Given the description of an element on the screen output the (x, y) to click on. 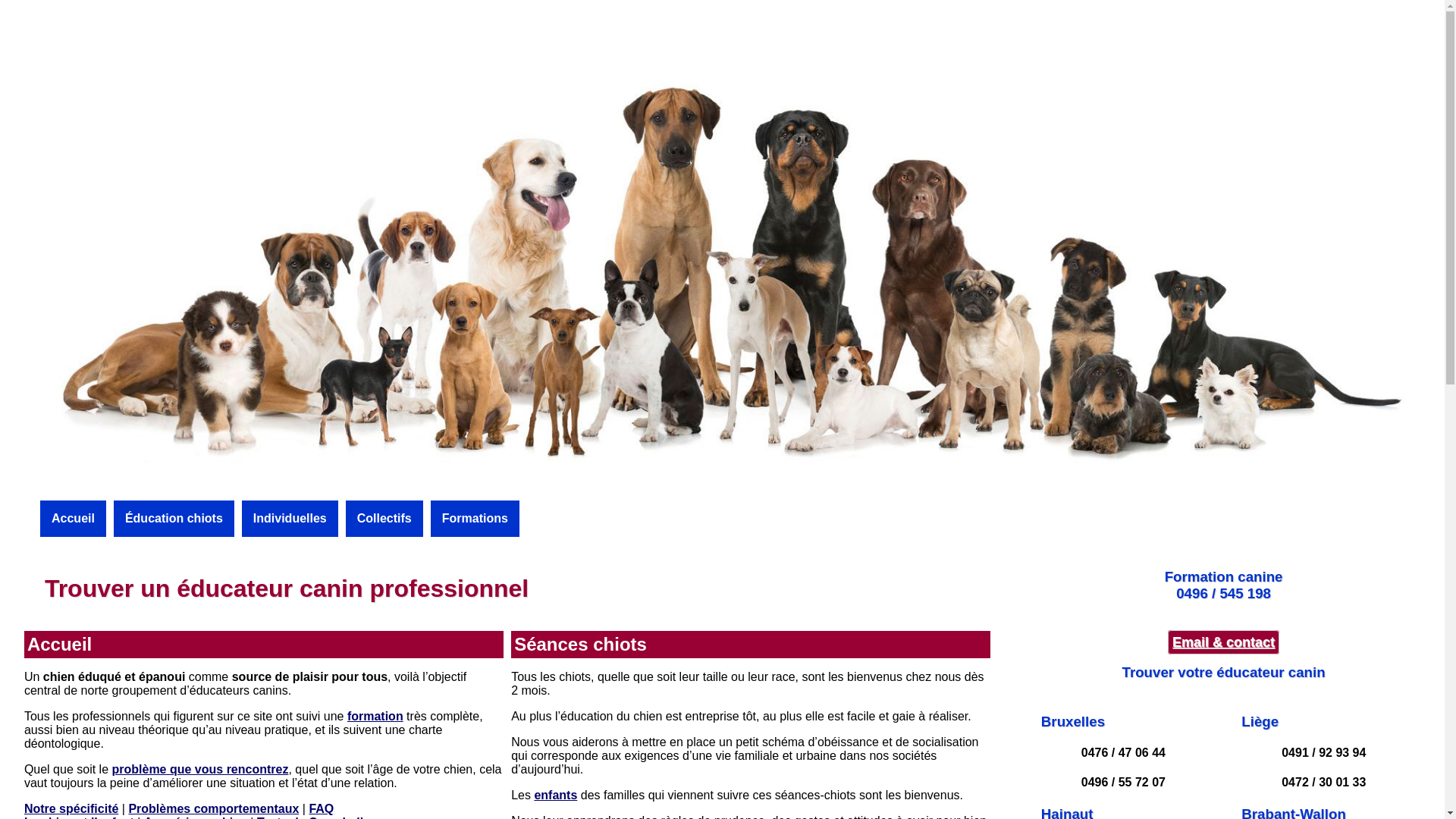
Collectifs Element type: text (384, 518)
Email & contact Element type: text (1223, 642)
enfants Element type: text (555, 794)
Formations Element type: text (474, 518)
Accueil Element type: text (73, 518)
Individuelles Element type: text (289, 518)
FAQ Element type: text (320, 808)
formation Element type: text (375, 715)
